Given the description of an element on the screen output the (x, y) to click on. 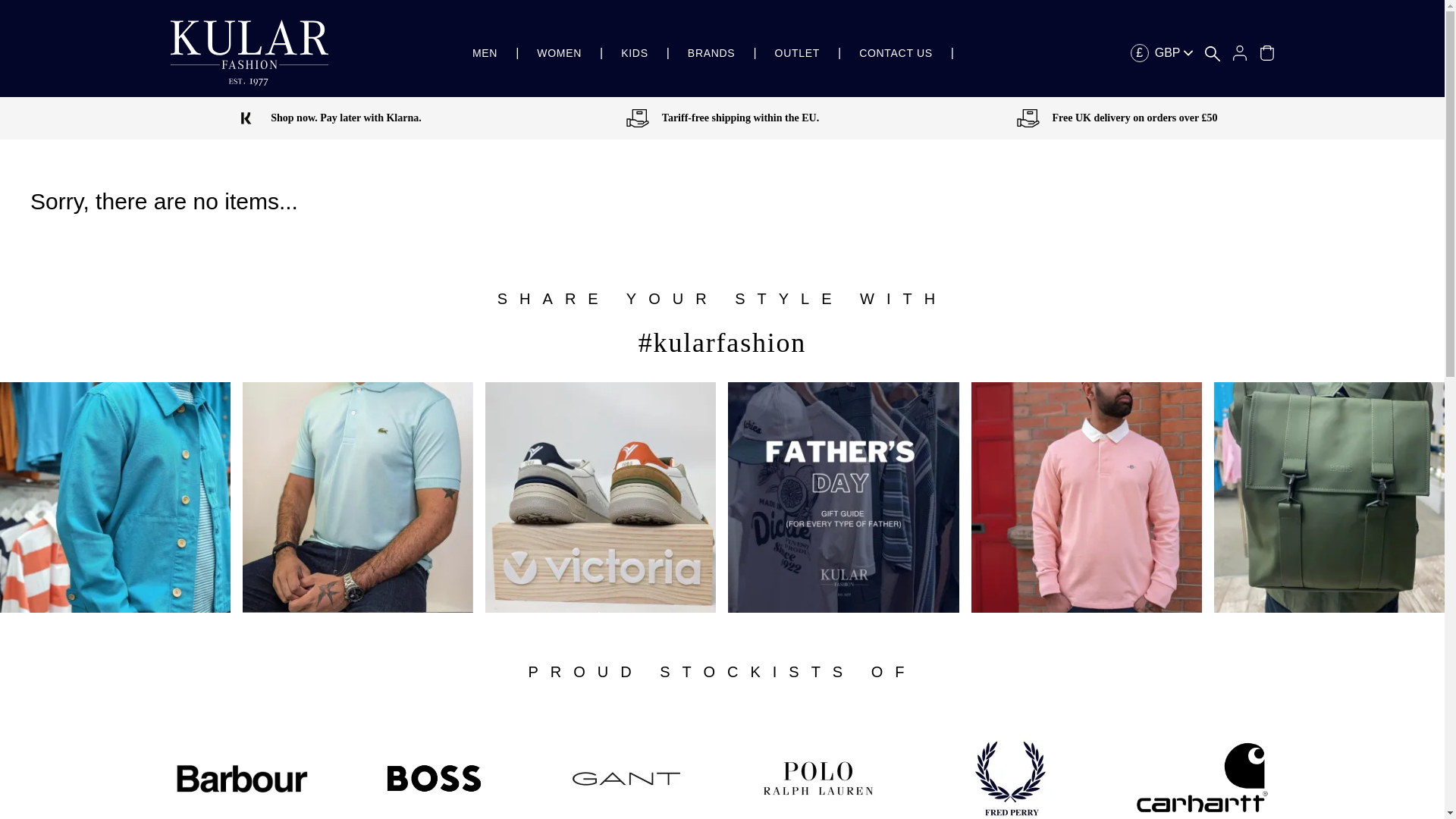
WOMEN (558, 53)
GANT (1086, 497)
Show the search (1212, 53)
Victoria 1985 (600, 497)
Fred Perry (1010, 778)
Armor-Lux (115, 497)
Polo Ralph Lauren (818, 778)
Lacoste (358, 497)
Barbour (241, 778)
Father's Day Gift Guide (843, 497)
Gant (625, 778)
Carhartt WIP (1202, 762)
BRANDS (711, 53)
Boss  (433, 778)
